Given the description of an element on the screen output the (x, y) to click on. 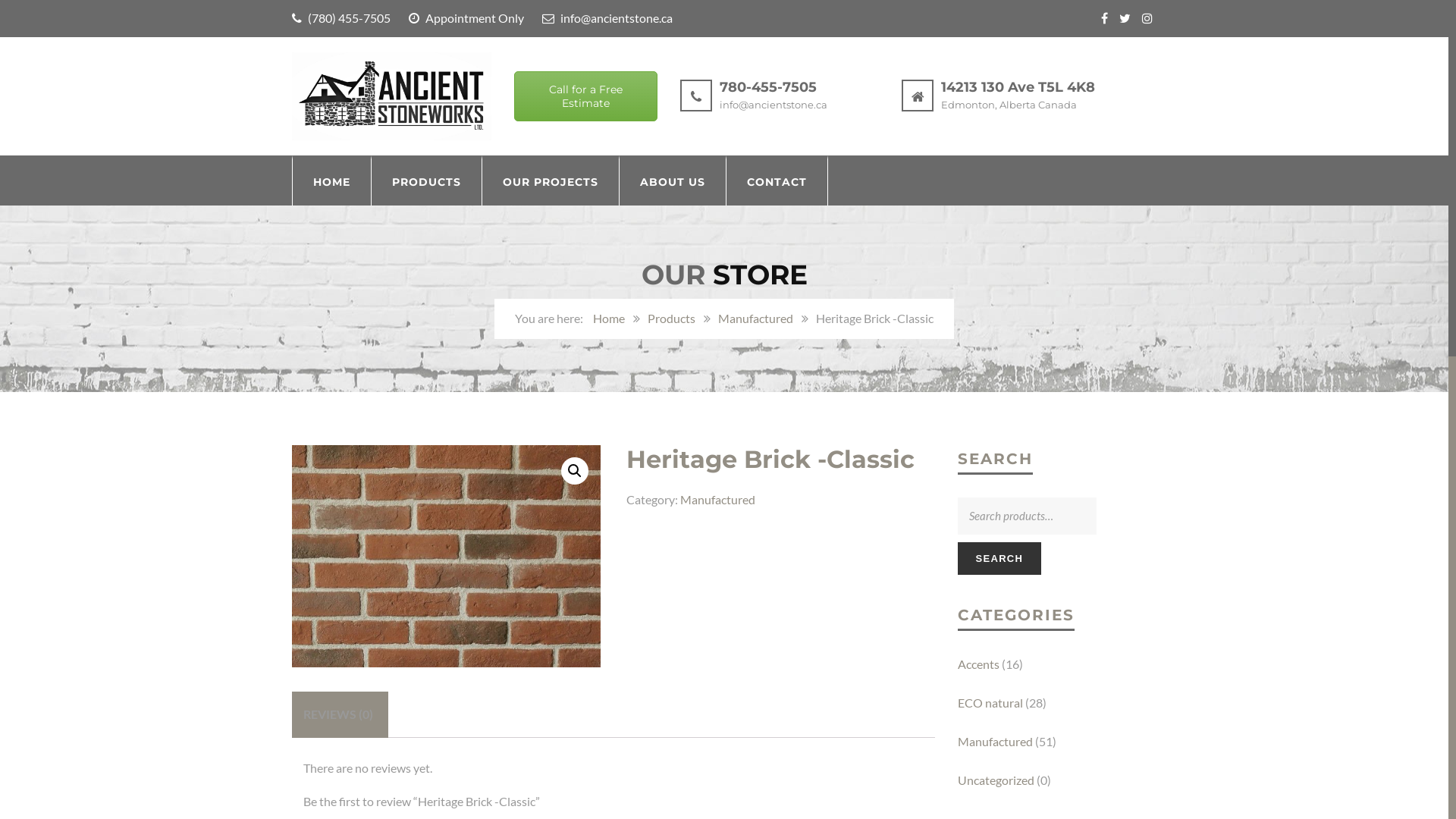
Accents Element type: text (977, 663)
Manufactured Element type: text (755, 317)
Heritage Brick -Classic- SZM-03_preview Element type: hover (445, 556)
Products Element type: text (671, 317)
ECO natural Element type: text (989, 702)
REVIEWS (0) Element type: text (338, 714)
Home Element type: text (608, 317)
OUR PROJECTS Element type: text (550, 180)
SEARCH Element type: text (999, 558)
Call for a Free Estimate Element type: text (585, 96)
ABOUT US Element type: text (672, 180)
Uncategorized Element type: text (995, 779)
CONTACT Element type: text (777, 180)
HOME Element type: text (331, 180)
Manufactured Element type: text (994, 741)
Manufactured Element type: text (717, 499)
PRODUCTS Element type: text (426, 180)
